Given the description of an element on the screen output the (x, y) to click on. 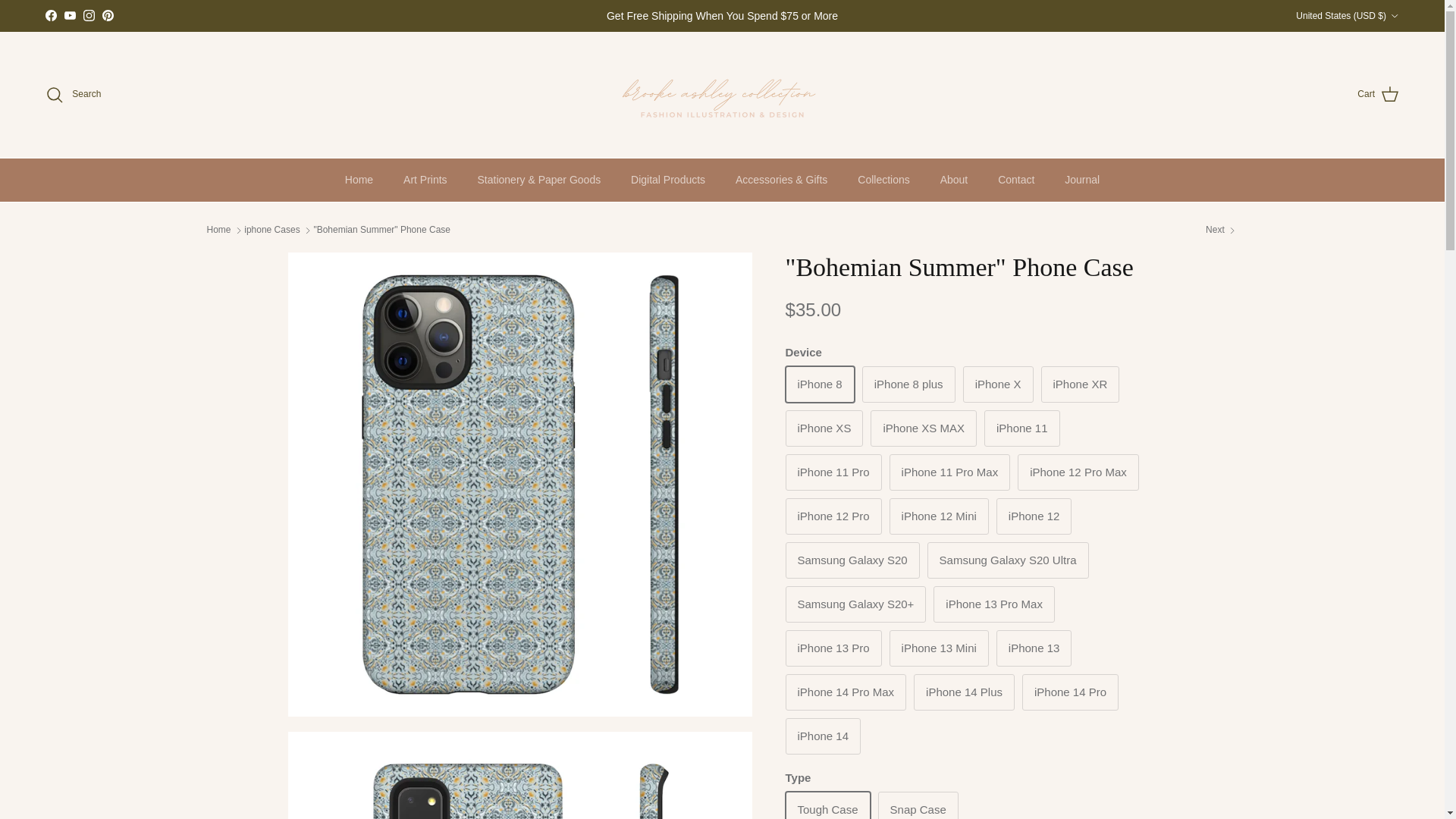
YouTube (69, 15)
Brooke Ashley Collection  on Instagram (88, 15)
Search (72, 94)
Brooke Ashley Collection  on Facebook (50, 15)
Home (359, 179)
Pinterest (107, 15)
Art Prints (425, 179)
Digital Products (668, 179)
Brooke Ashley Collection  (721, 94)
Brooke Ashley Collection  on Pinterest (107, 15)
Cart (1377, 94)
Brooke Ashley Collection  on YouTube (69, 15)
Instagram (88, 15)
"Sea Turtles" Phone Case (1221, 229)
Facebook (50, 15)
